Given the description of an element on the screen output the (x, y) to click on. 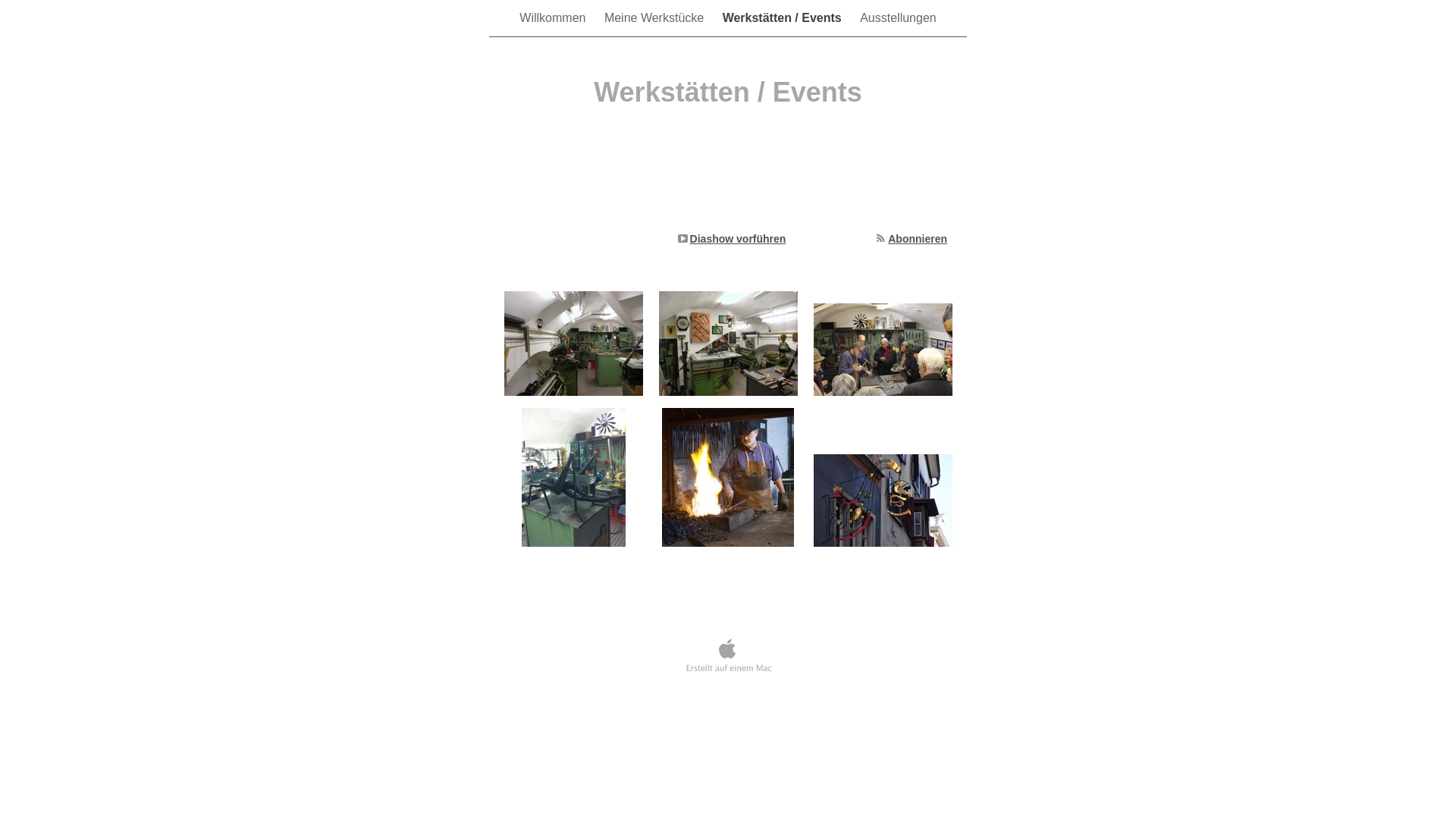
Abonnieren Element type: text (917, 238)
Willkommen Element type: text (554, 17)
Ausstellungen Element type: text (897, 17)
